Given the description of an element on the screen output the (x, y) to click on. 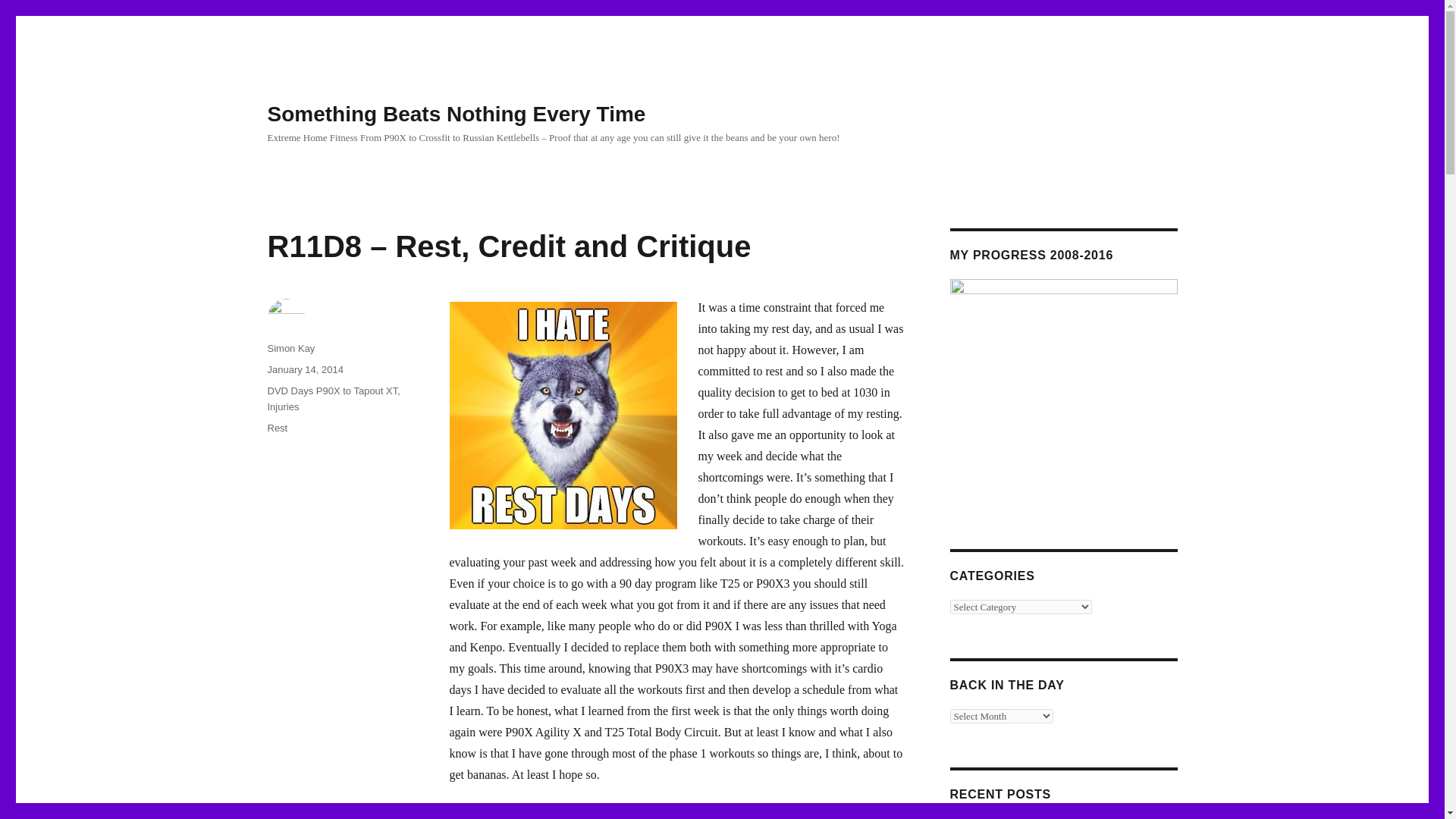
Rest (276, 428)
Simon Kay (290, 348)
Something Beats Nothing Every Time (455, 114)
January 14, 2014 (304, 369)
DVD Days P90X to Tapout XT (331, 390)
Injuries (282, 406)
